Given the description of an element on the screen output the (x, y) to click on. 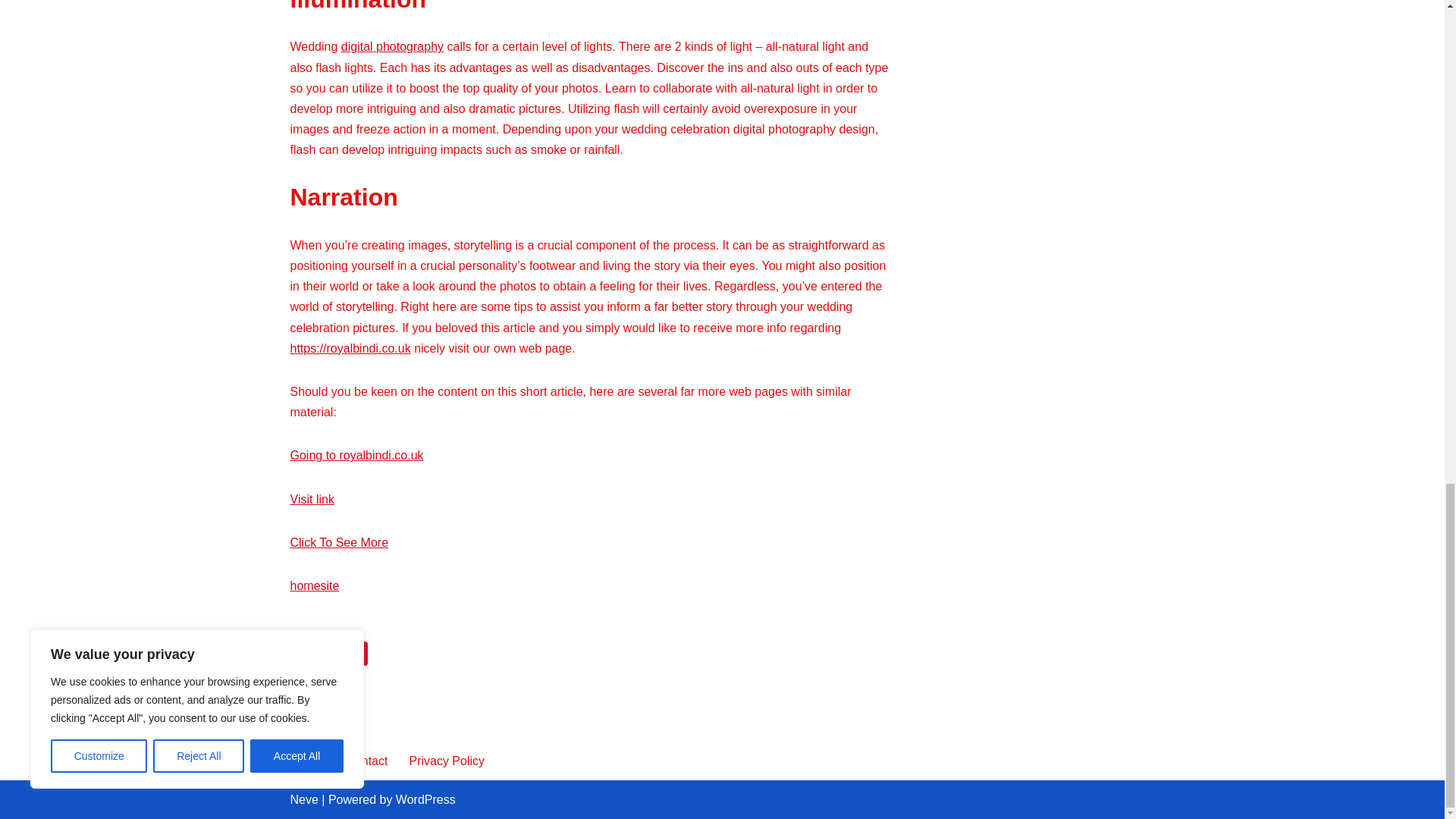
Click To See More (338, 542)
Going to royalbindi.co.uk (356, 454)
Exist (347, 653)
EXIST (347, 653)
homesite (314, 585)
digital photography (392, 46)
Visit link (311, 499)
